Given the description of an element on the screen output the (x, y) to click on. 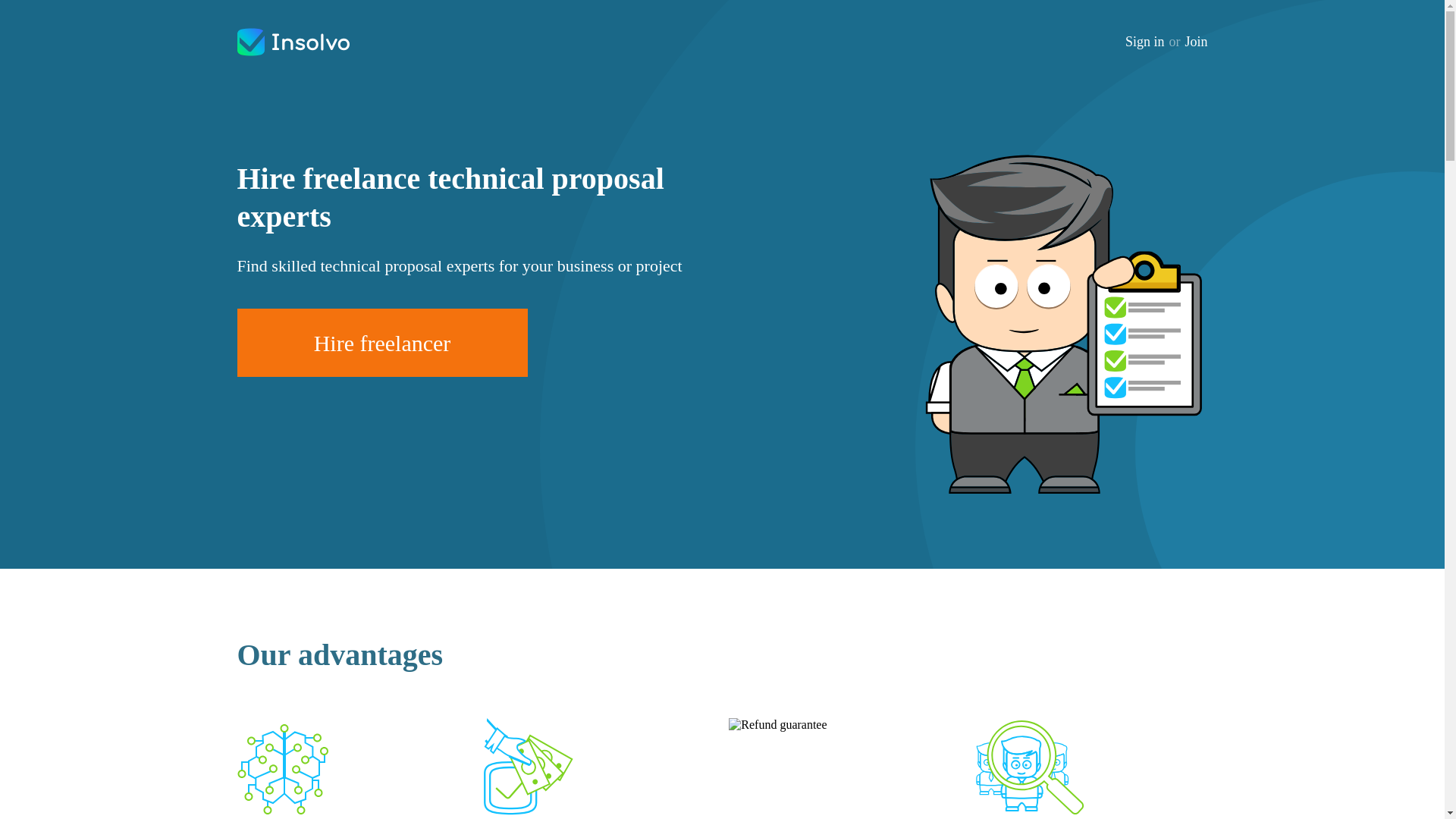
Hire freelancer (381, 342)
Sign in (1144, 42)
Join (1196, 42)
